Given the description of an element on the screen output the (x, y) to click on. 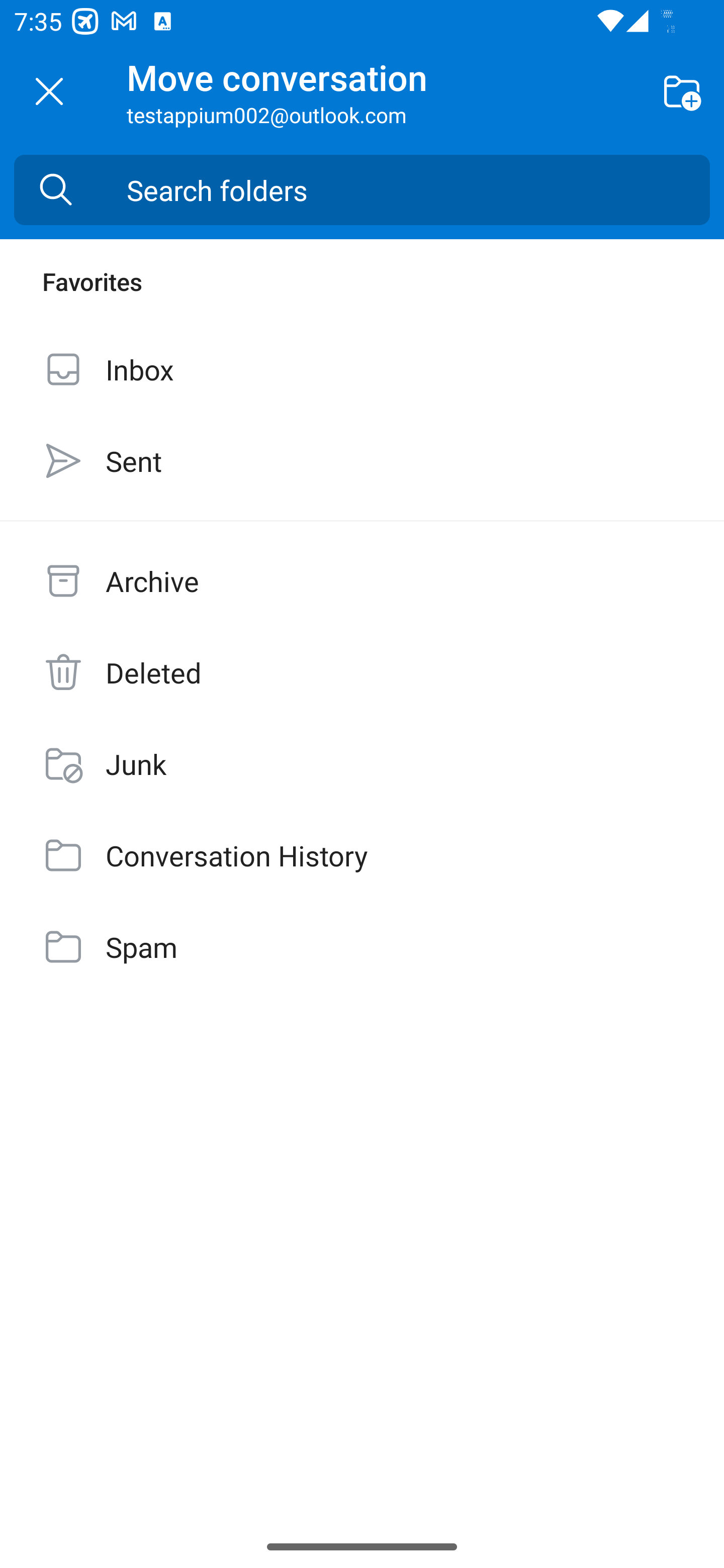
Move conversation, Cancel (49, 91)
Create new folder (681, 90)
Search folders (418, 190)
Inbox (362, 369)
Sent (362, 460)
Archive (362, 580)
Deleted (362, 672)
Junk (362, 763)
Conversation History (362, 855)
Spam (362, 946)
